Given the description of an element on the screen output the (x, y) to click on. 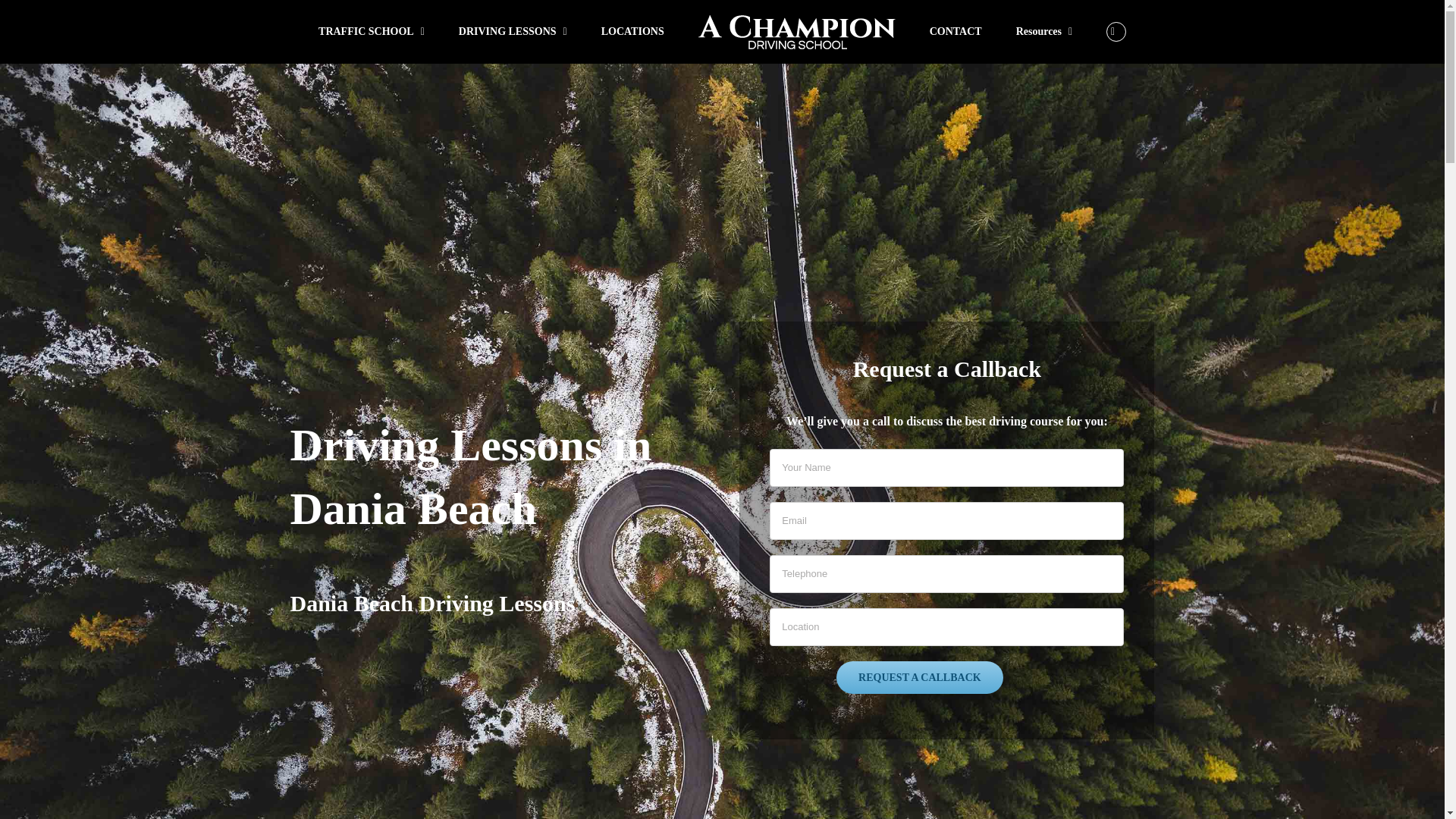
REQUEST A CALLBACK (919, 676)
LOCATIONS (632, 31)
DRIVING LESSONS (512, 31)
TRAFFIC SCHOOL (371, 31)
Resources (1044, 31)
CONTACT (955, 31)
